Given the description of an element on the screen output the (x, y) to click on. 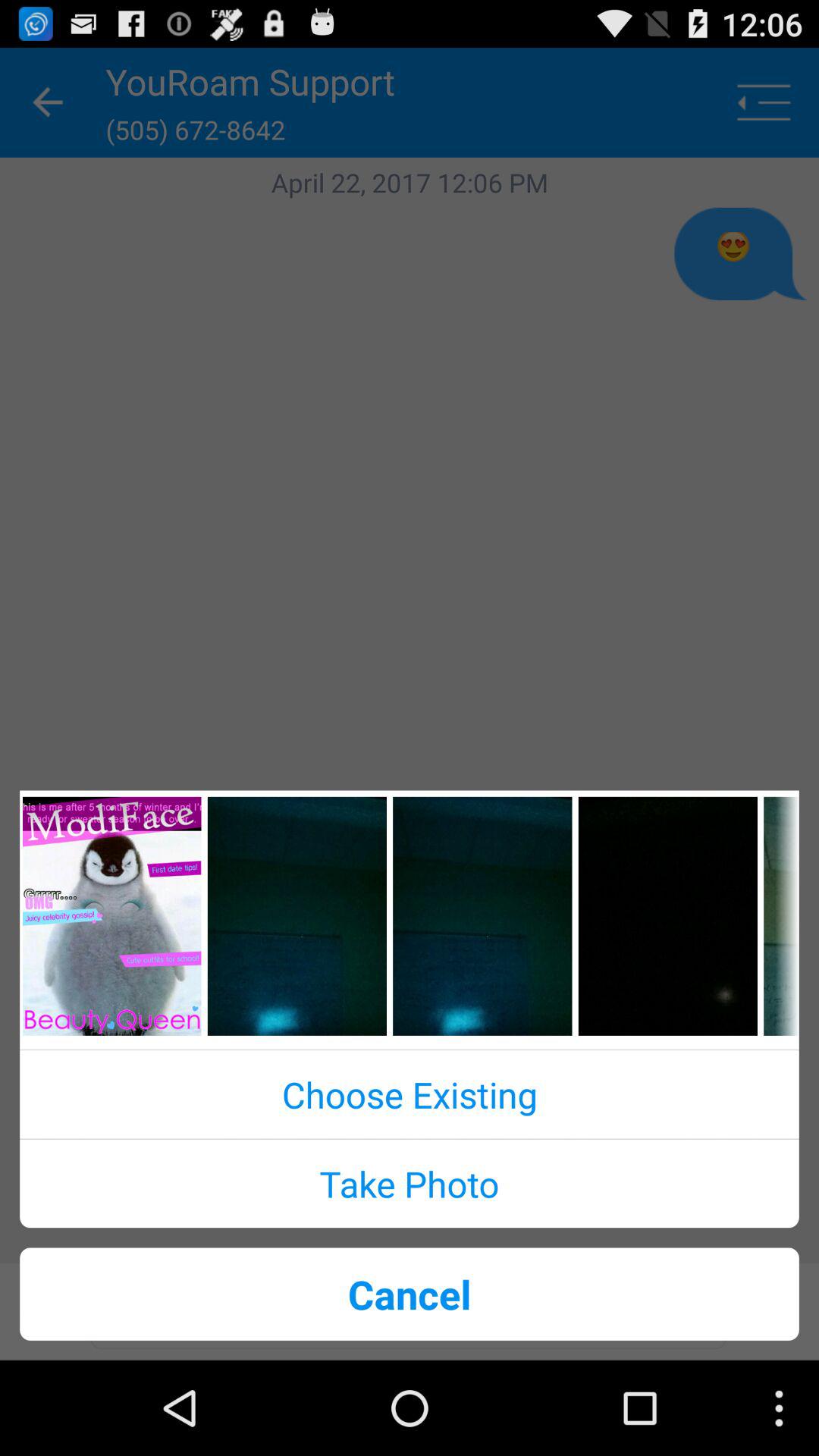
choose this photo (296, 915)
